Given the description of an element on the screen output the (x, y) to click on. 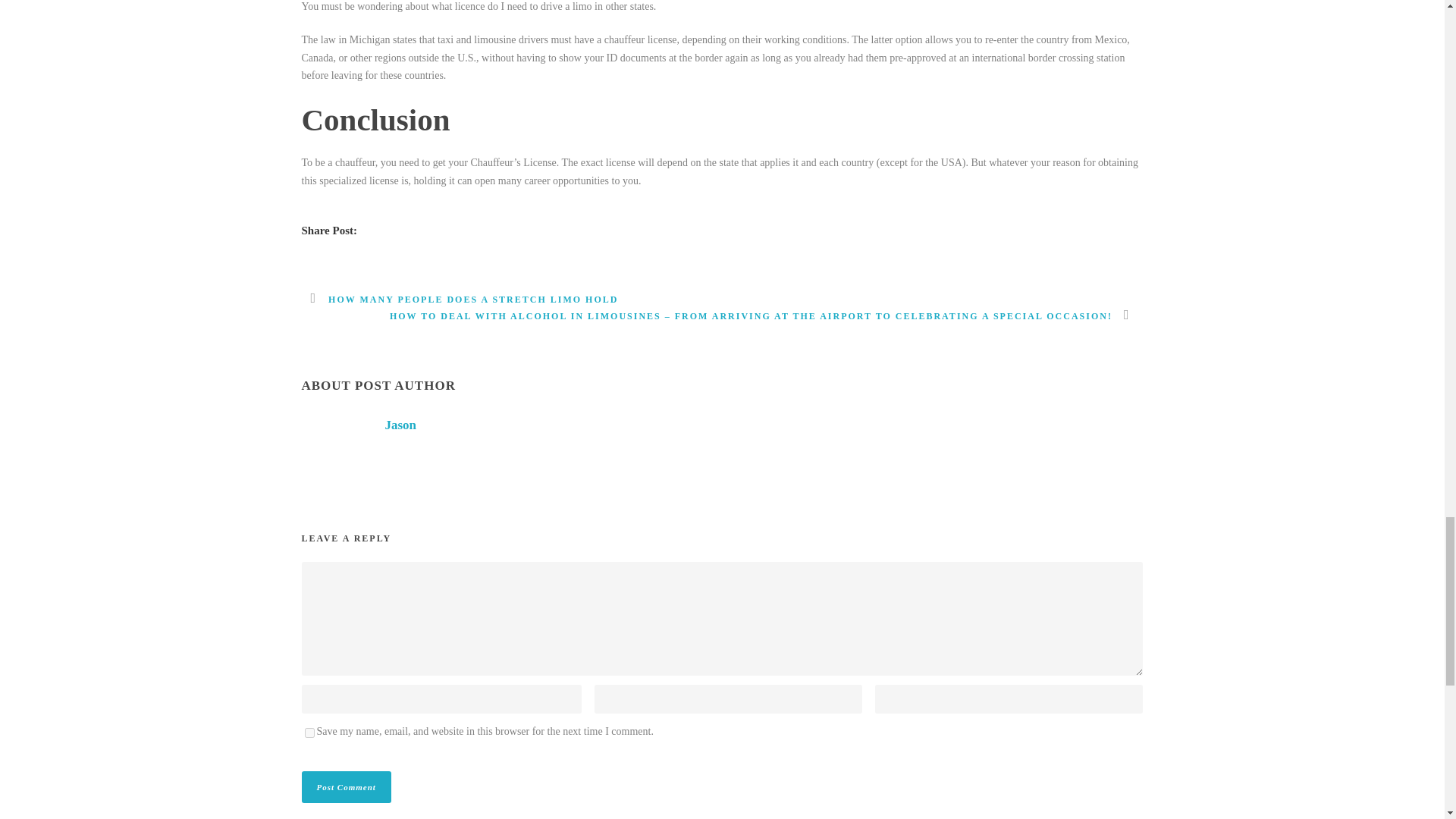
yes (309, 732)
Posts by Jason (400, 424)
Post Comment (346, 787)
